Given the description of an element on the screen output the (x, y) to click on. 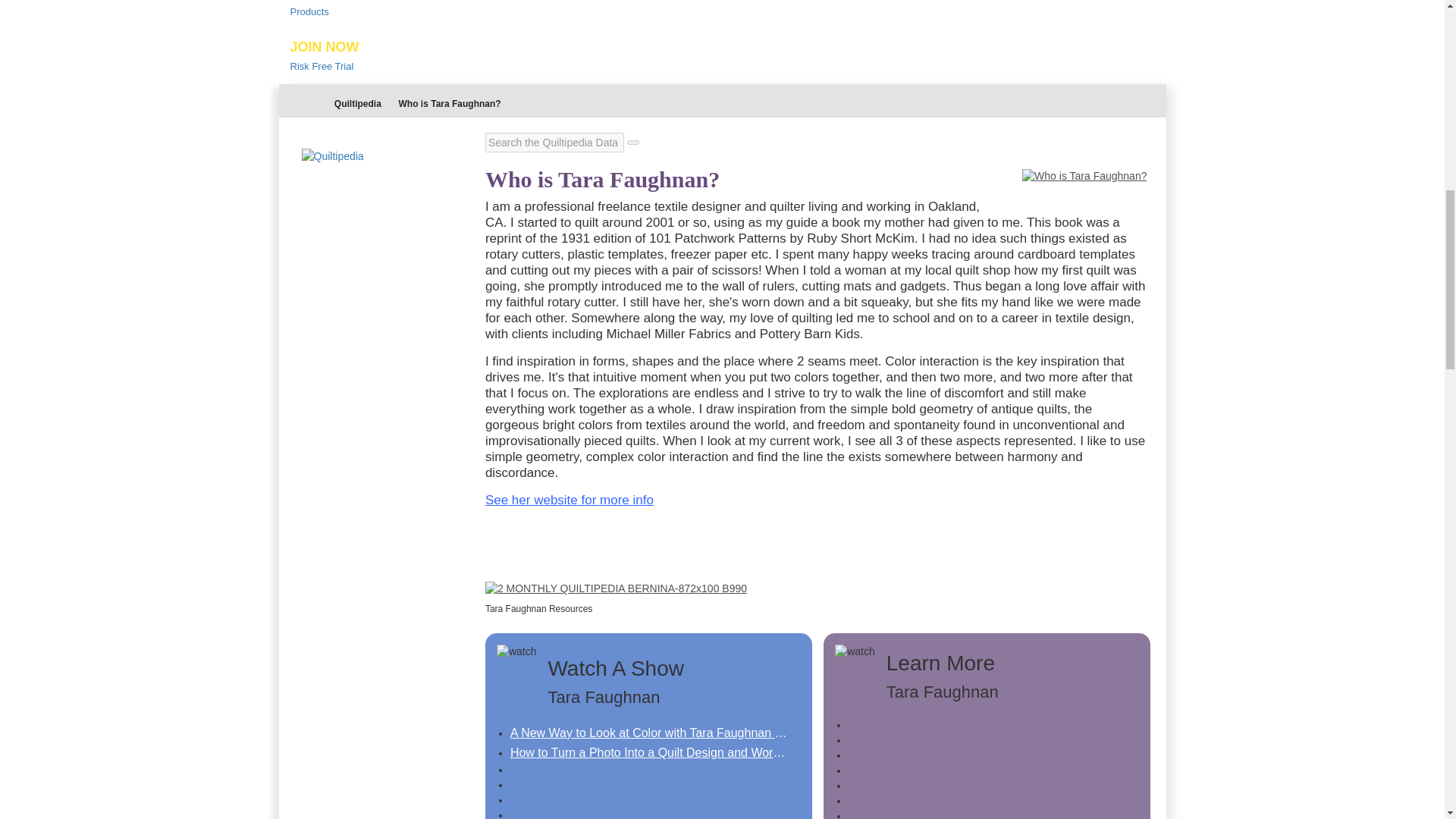
2 MONTHLY QUILTIPEDIA BERNINA-872x100 B990 (722, 56)
Quiltipedia (615, 587)
See her website for more info (359, 103)
Who is Tara Faughnan? (568, 499)
